Given the description of an element on the screen output the (x, y) to click on. 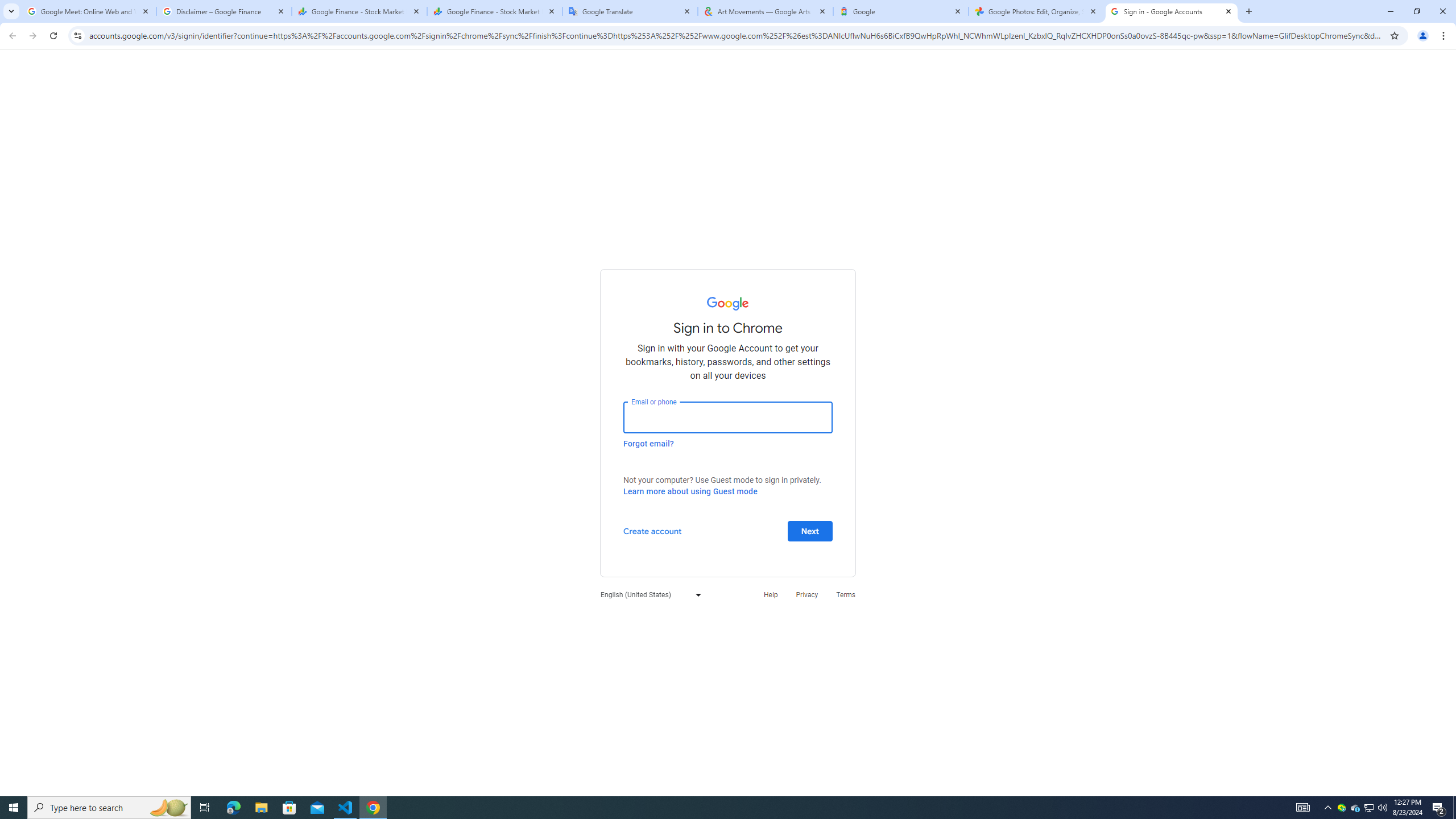
Google Translate (630, 11)
Google (901, 11)
